Given the description of an element on the screen output the (x, y) to click on. 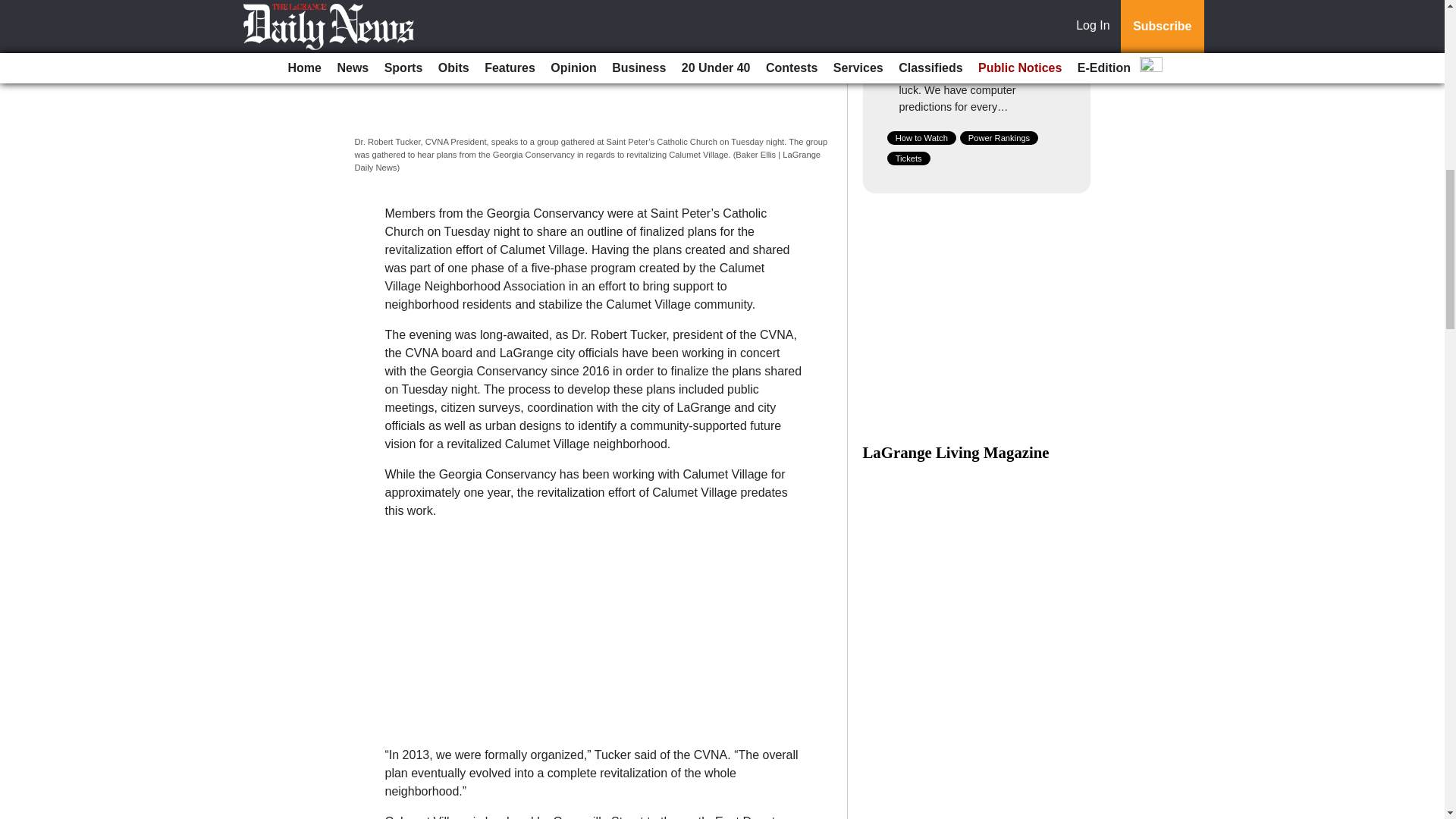
Tickets (908, 158)
Power Rankings (999, 137)
WNBA Betting Picks: Sunday, September 1 (978, 30)
How to Watch (921, 137)
